Given the description of an element on the screen output the (x, y) to click on. 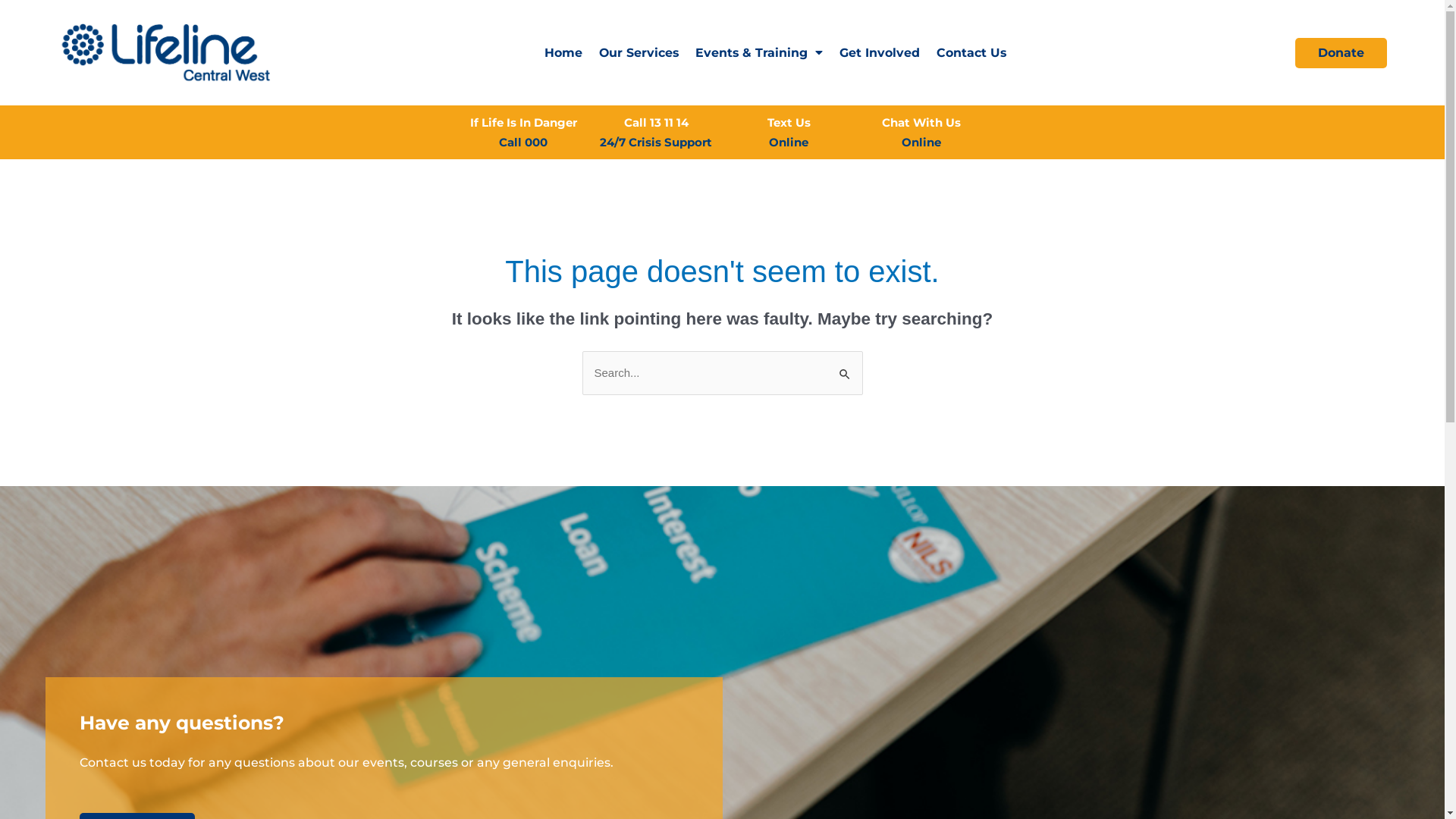
Call 13 11 14
24/7 Crisis Support Element type: text (655, 132)
Search Element type: text (845, 366)
Chat With Us
Online Element type: text (920, 132)
Contact Us Element type: text (971, 52)
Events & Training Element type: text (759, 52)
Home Element type: text (563, 52)
If Life Is In Danger
Call 000 Element type: text (523, 132)
Get Involved Element type: text (879, 52)
Text Us
Online Element type: text (788, 132)
Our Services Element type: text (638, 52)
Donate Element type: text (1340, 52)
